Given the description of an element on the screen output the (x, y) to click on. 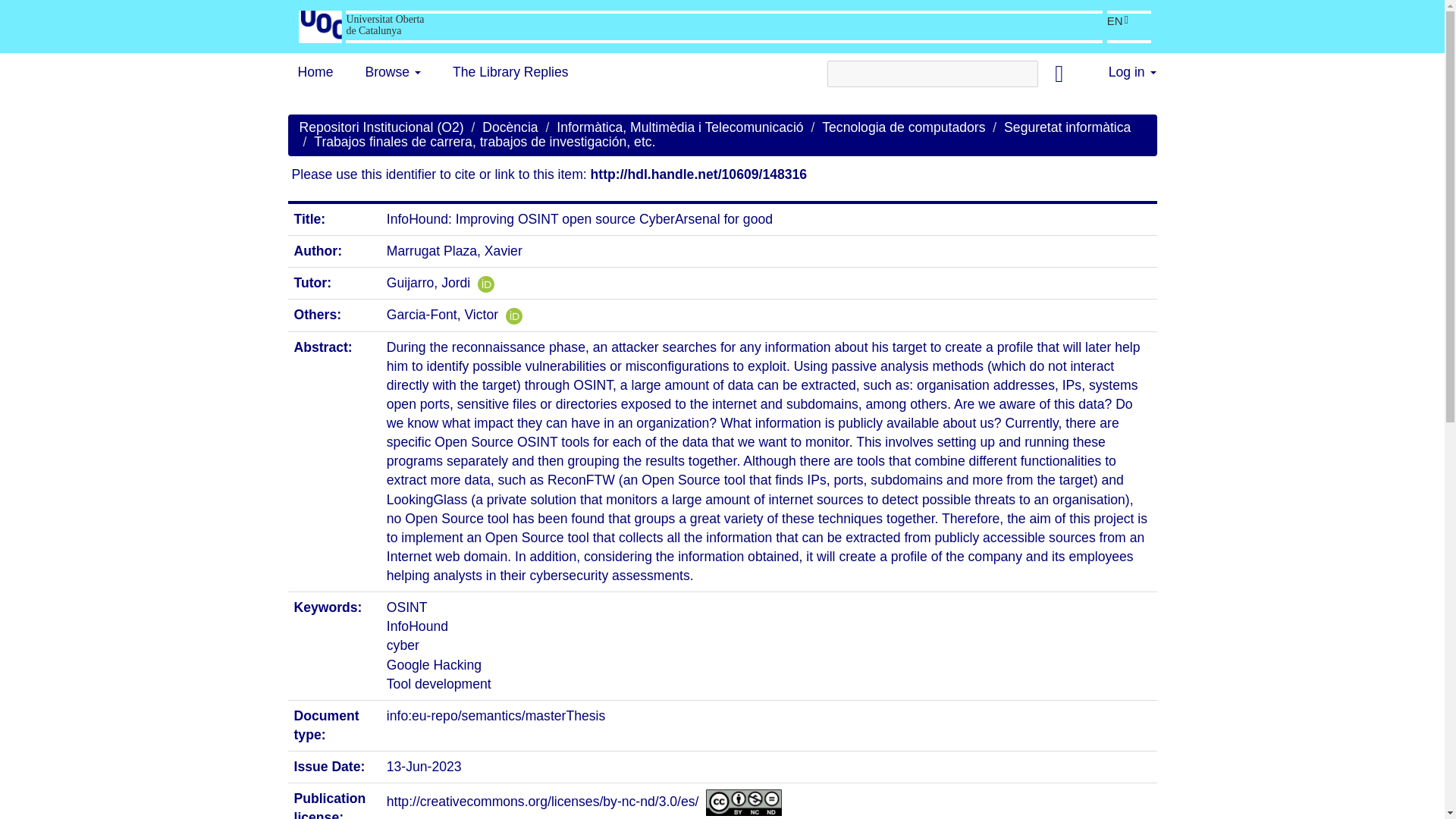
EN (1117, 21)
Tecnologia de computadors (903, 127)
Browse (392, 71)
The Library Replies (510, 71)
Guijarro, Jordi (428, 282)
Marrugat Plaza, Xavier (454, 250)
Log in (1132, 71)
Garcia-Font, Victor (442, 314)
Home (315, 71)
